Given the description of an element on the screen output the (x, y) to click on. 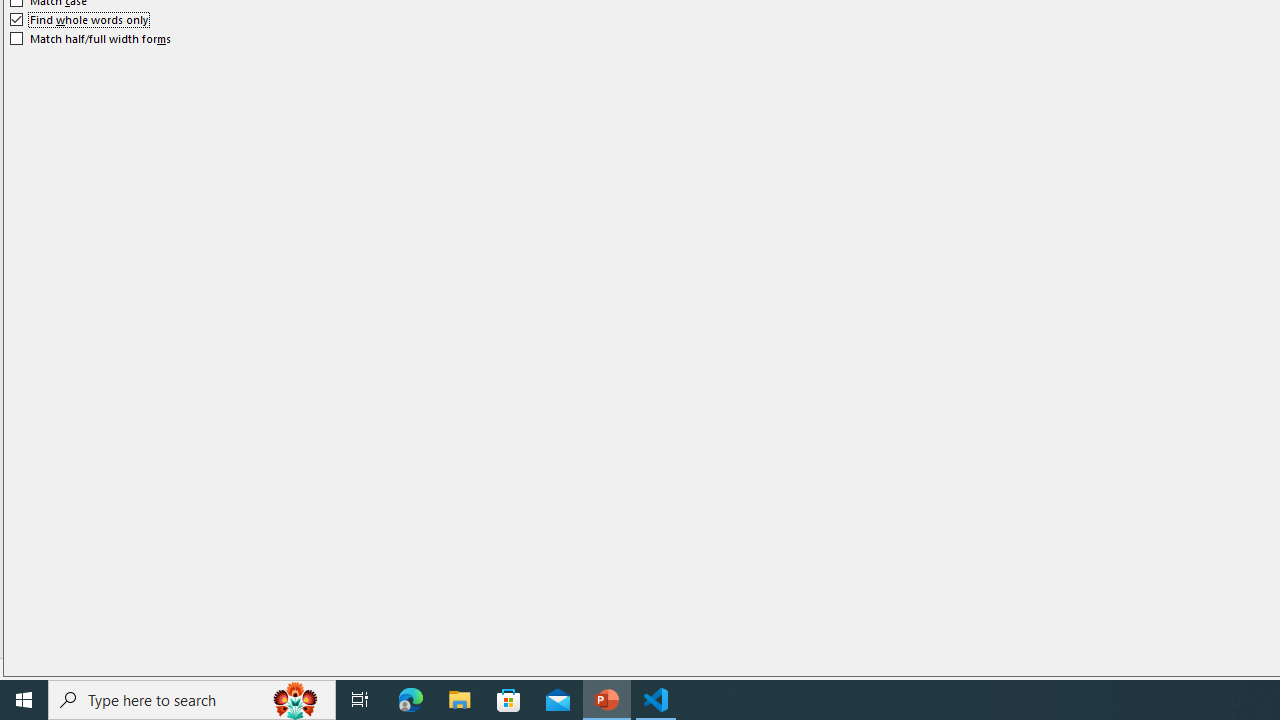
Match half/full width forms (91, 38)
Find whole words only (79, 20)
